Given the description of an element on the screen output the (x, y) to click on. 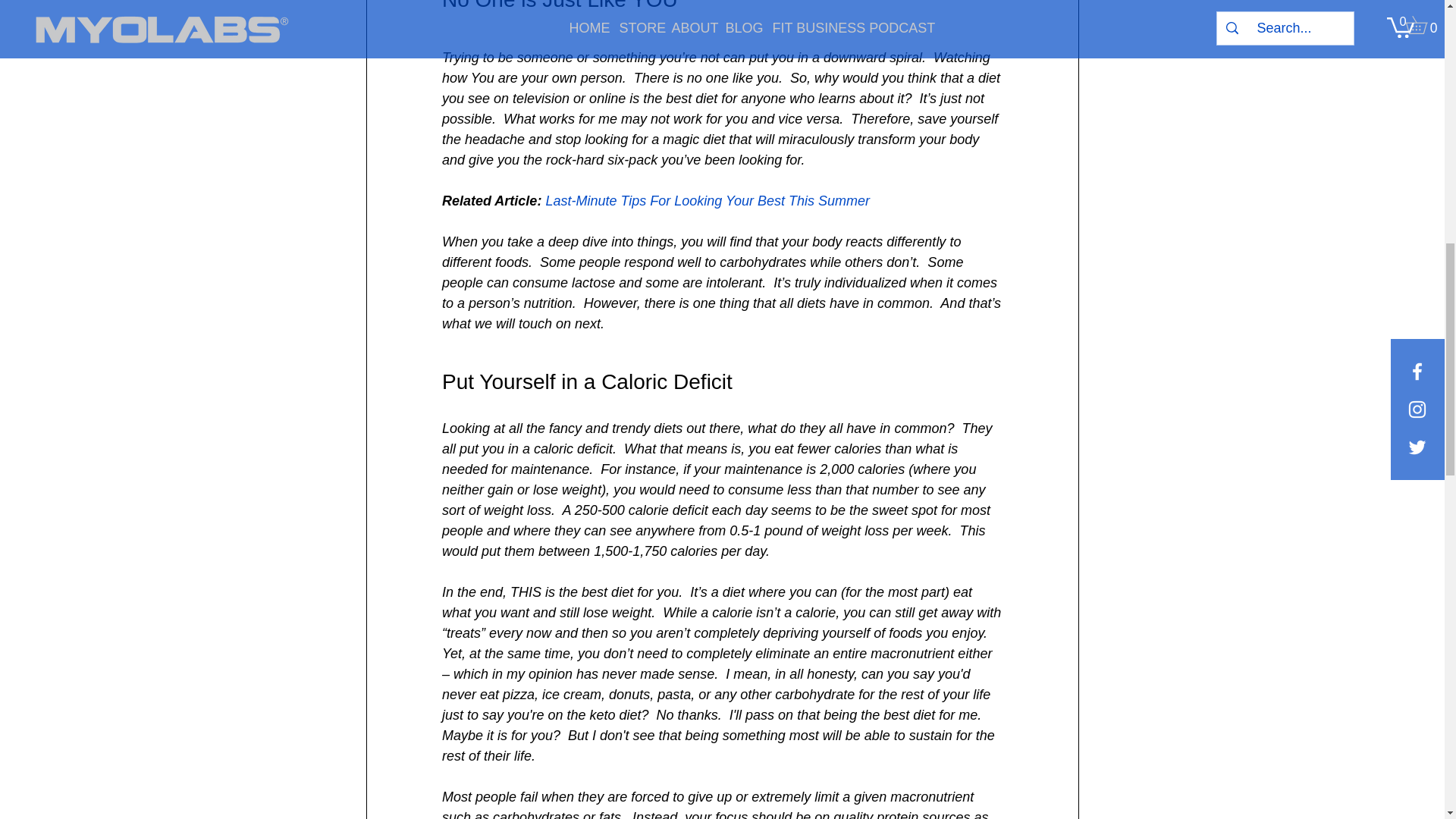
Last-Minute Tips For Looking Your Best This Summer (706, 200)
